Given the description of an element on the screen output the (x, y) to click on. 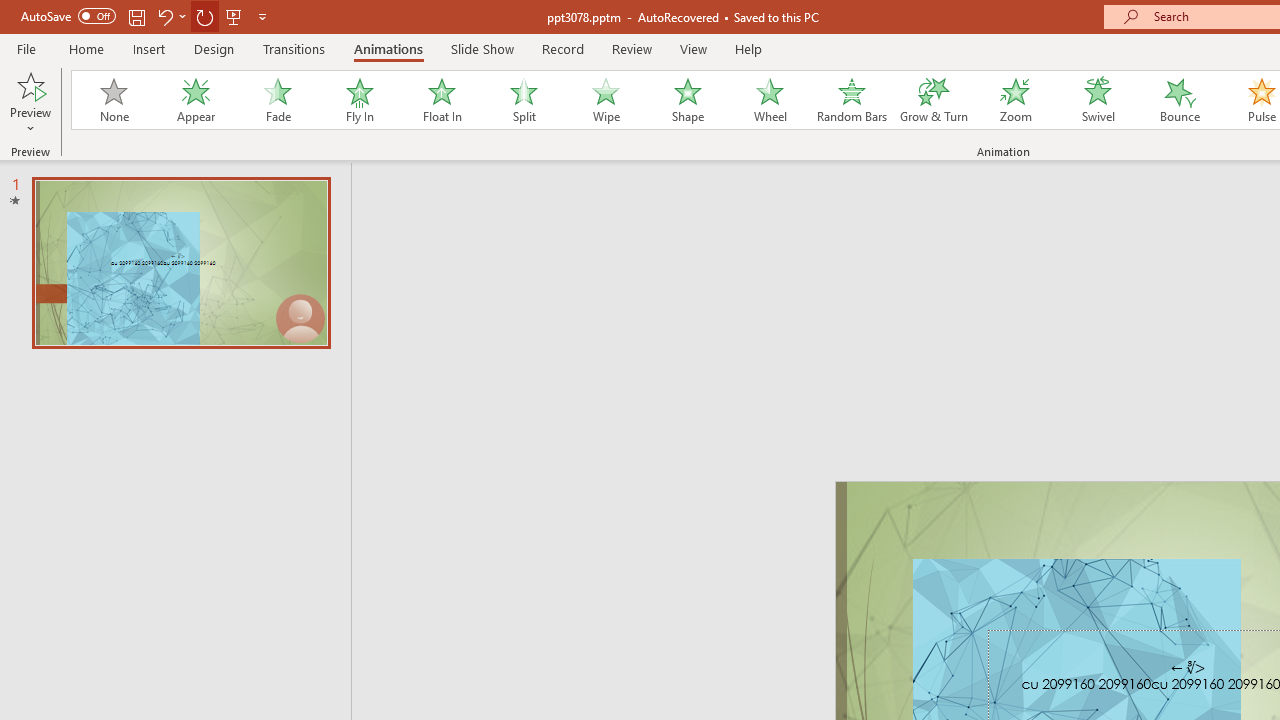
Appear (195, 100)
Float In (441, 100)
Fly In (359, 100)
